Given the description of an element on the screen output the (x, y) to click on. 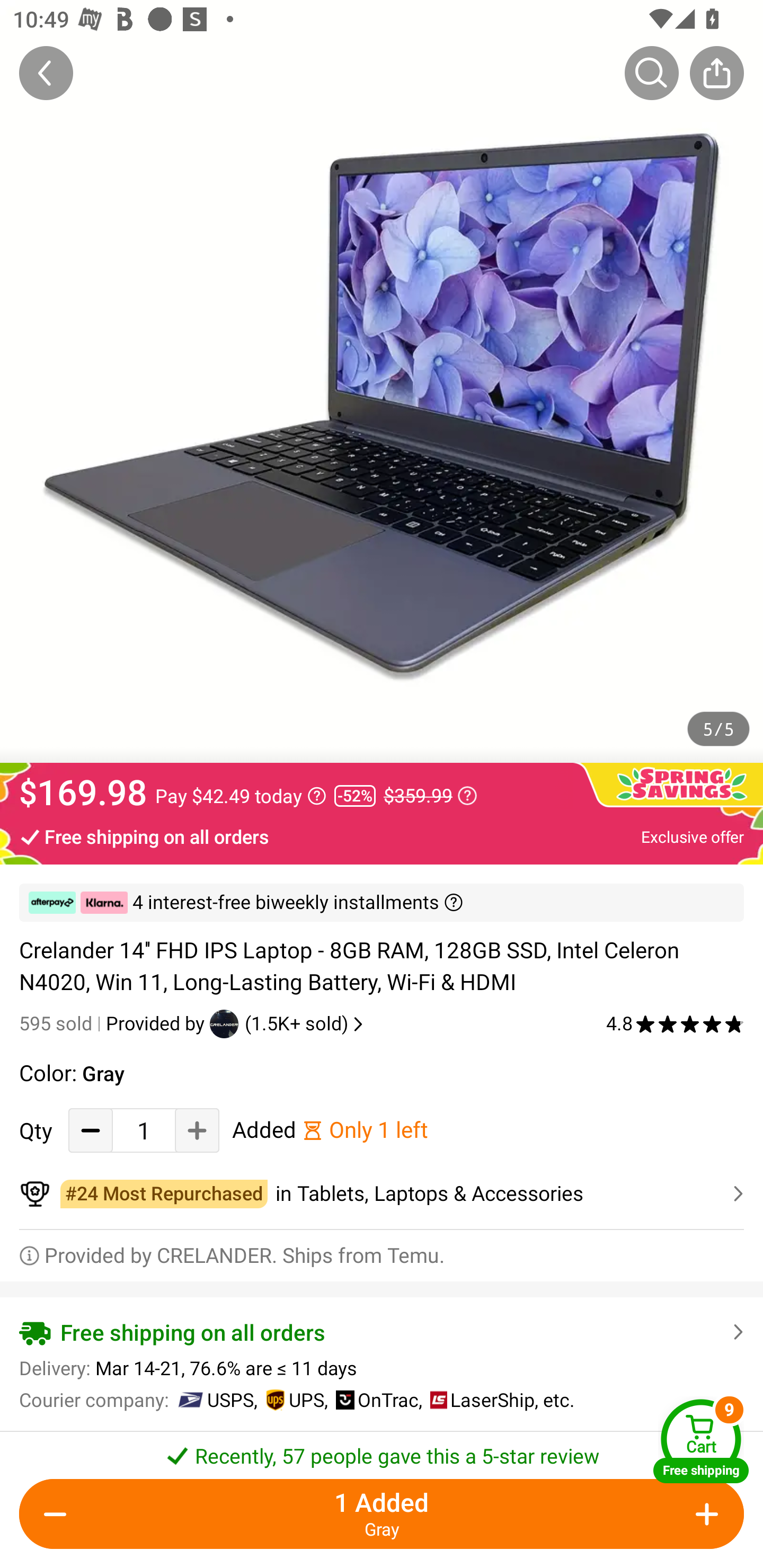
Back (46, 72)
Share (716, 72)
Pay $42.49 today   (240, 795)
Free shipping on all orders Exclusive offer (381, 836)
￼ ￼ 4 interest-free biweekly installments ￼ (381, 902)
595 sold Provided by  (114, 1023)
4.8 (674, 1023)
Decrease Quantity Button (90, 1130)
1 (143, 1130)
Add Quantity button (196, 1130)
￼￼in Tablets, Laptops & Accessories (381, 1193)
Cart Free shipping Cart (701, 1440)
￼￼Recently, 57 people gave this a 5-star review (381, 1450)
Decrease Quantity Button (59, 1513)
Add Quantity button (703, 1513)
